Given the description of an element on the screen output the (x, y) to click on. 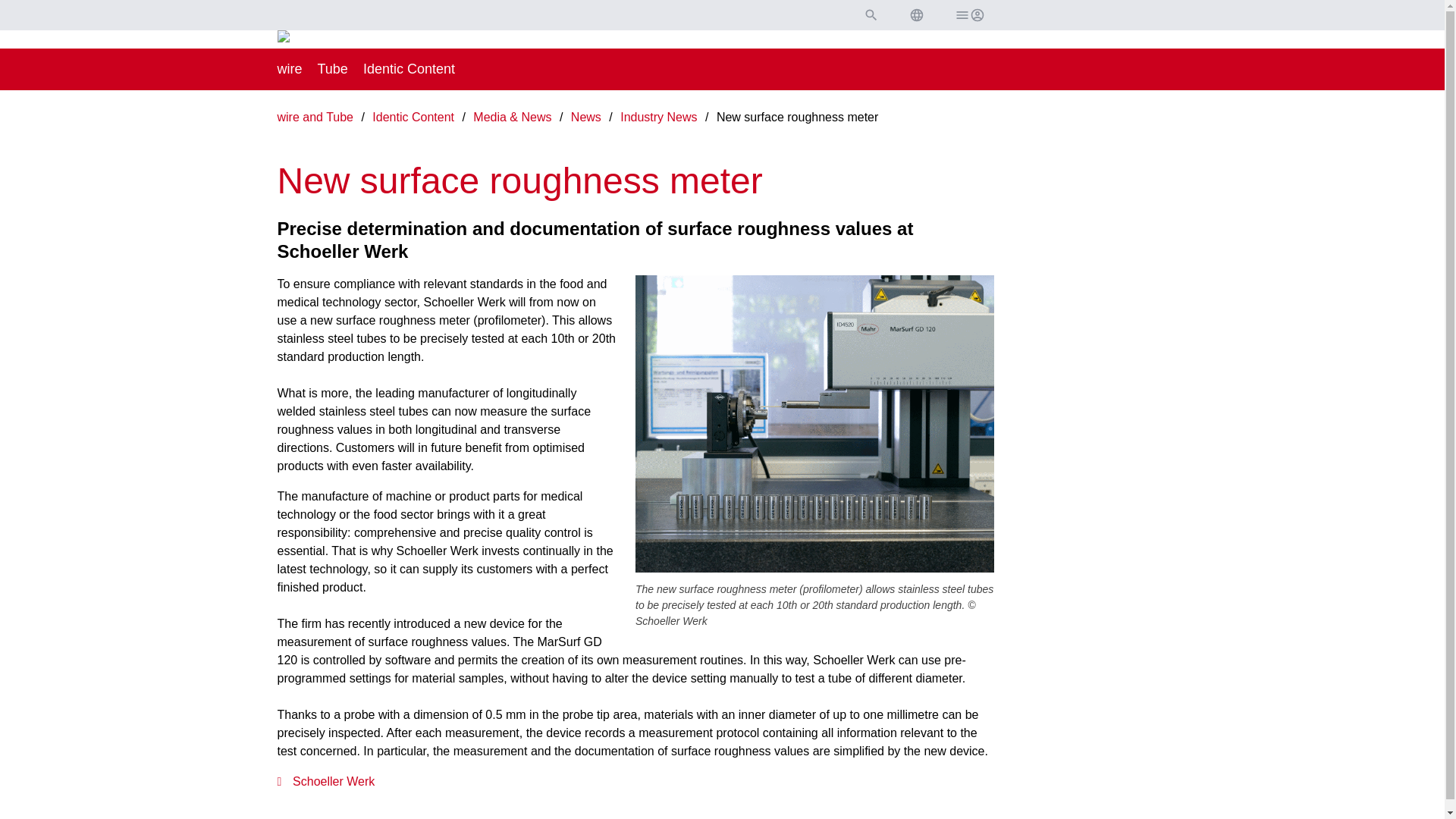
Search (870, 14)
Login (968, 14)
wire (290, 68)
Tube (332, 68)
English (915, 14)
wire (290, 68)
